Given the description of an element on the screen output the (x, y) to click on. 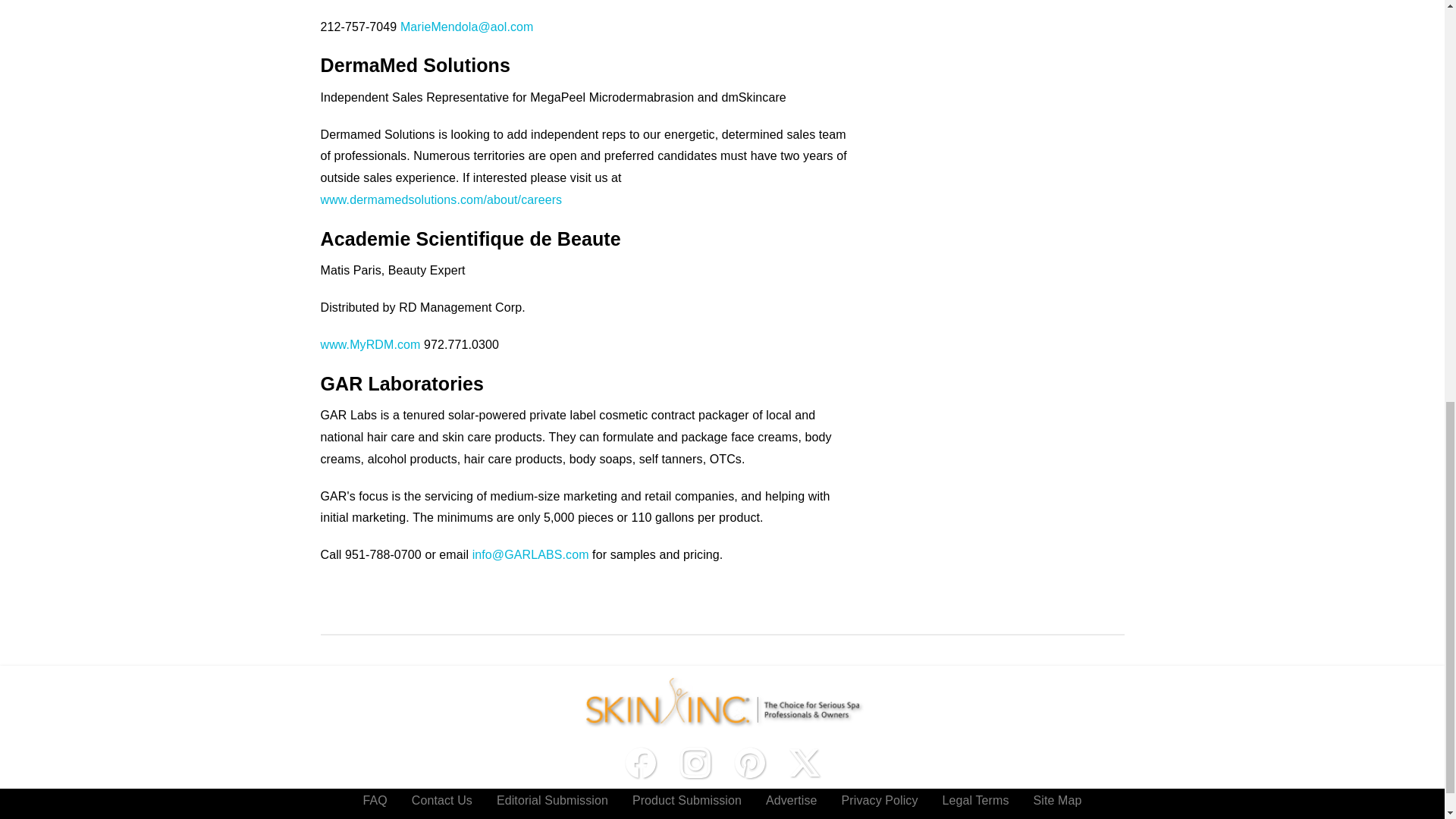
Twitter X icon (803, 762)
Facebook icon (639, 762)
Visit us on Pinterest (748, 762)
Visit us on Twitter (803, 762)
Visit us on Instagram (694, 762)
Visit us on Facebook (639, 762)
Pinterest icon (748, 762)
Instagram icon (694, 762)
